Given the description of an element on the screen output the (x, y) to click on. 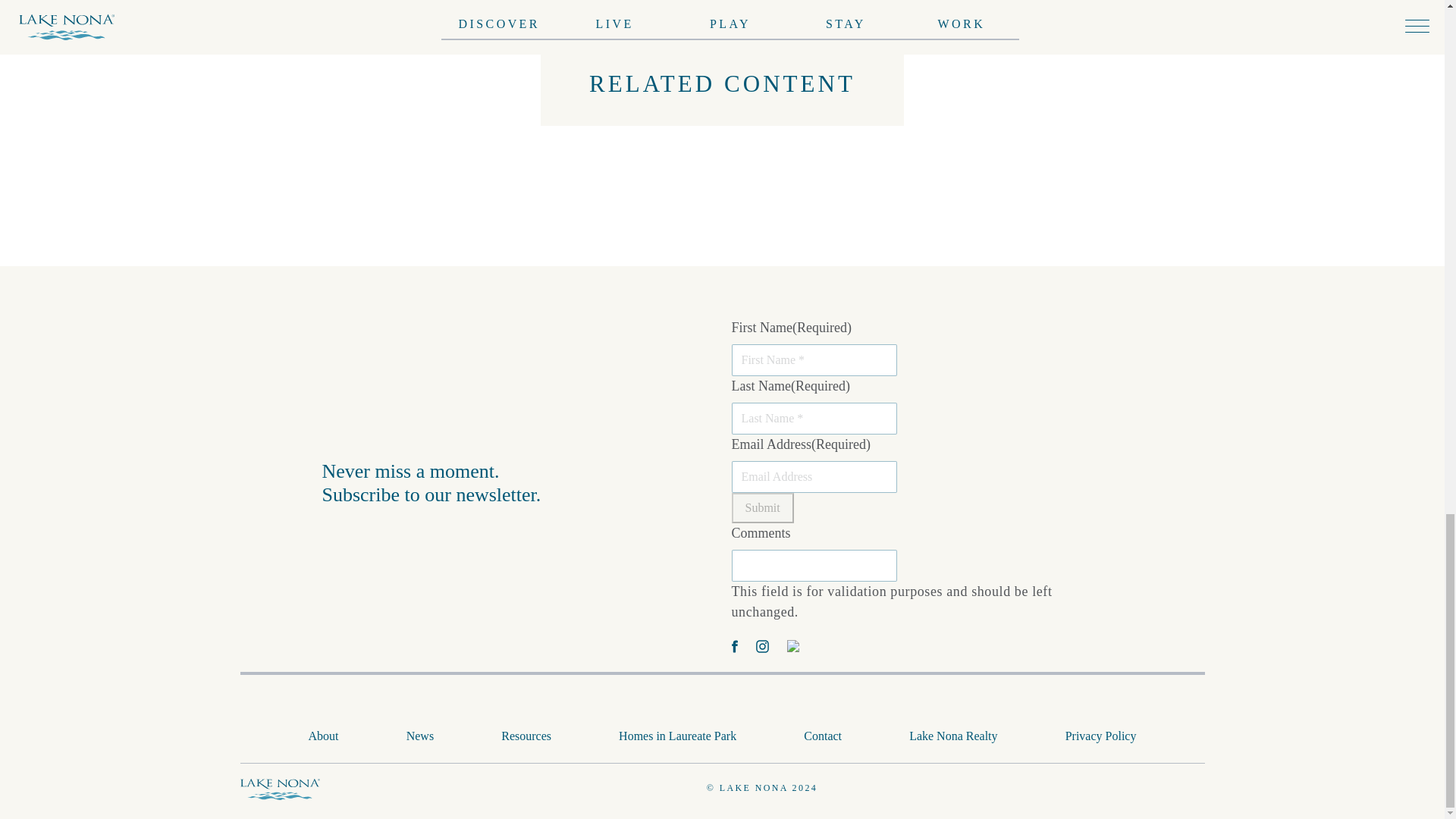
About (323, 735)
Submit (761, 508)
News (419, 735)
Resources (525, 735)
